Given the description of an element on the screen output the (x, y) to click on. 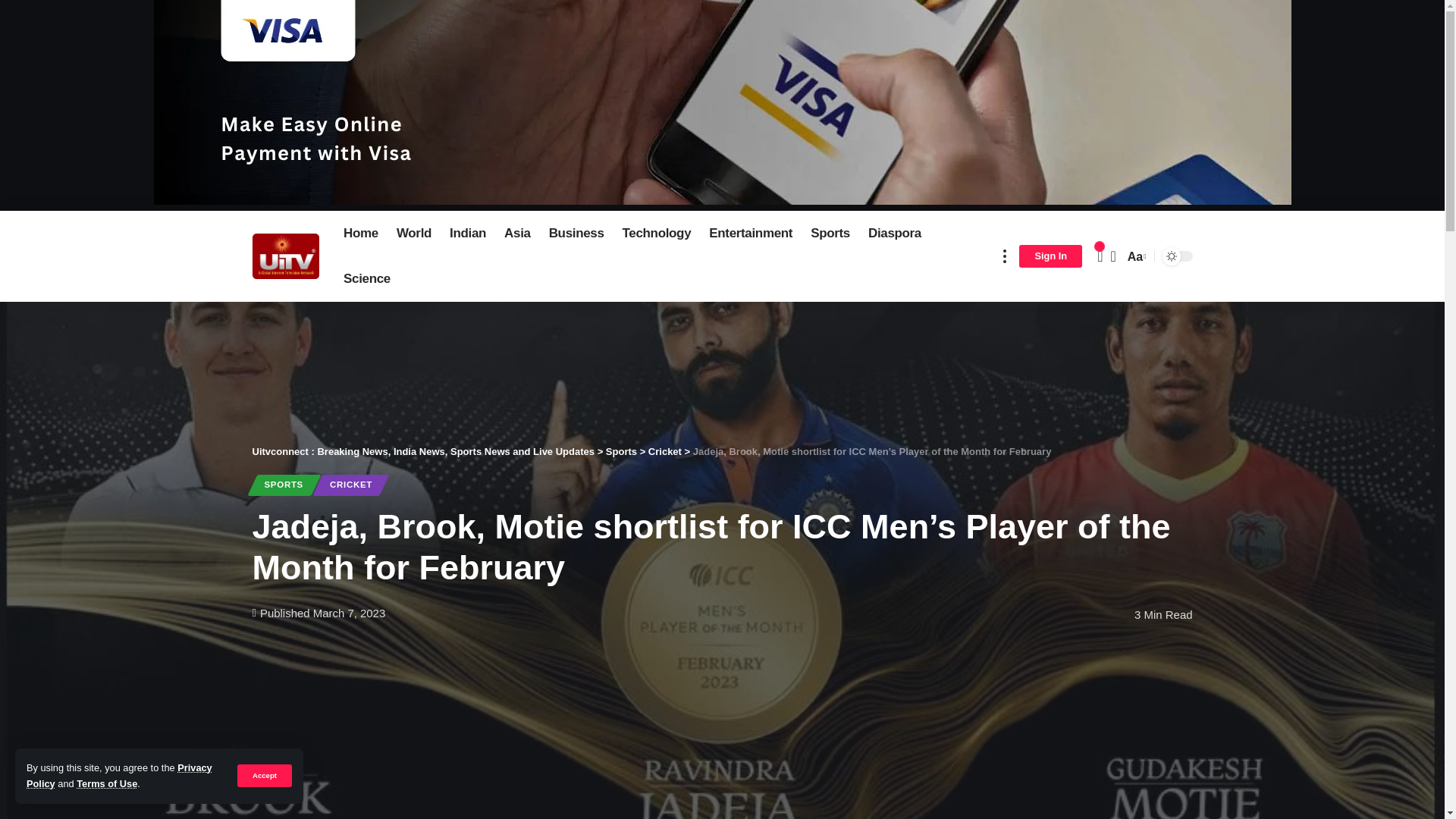
Asia (517, 233)
Business (576, 233)
Accept (264, 775)
Entertainment (751, 233)
Go to the Sports Category archives. (621, 451)
Privacy Policy (119, 775)
Diaspora (894, 233)
Technology (656, 233)
Indian (468, 233)
